Given the description of an element on the screen output the (x, y) to click on. 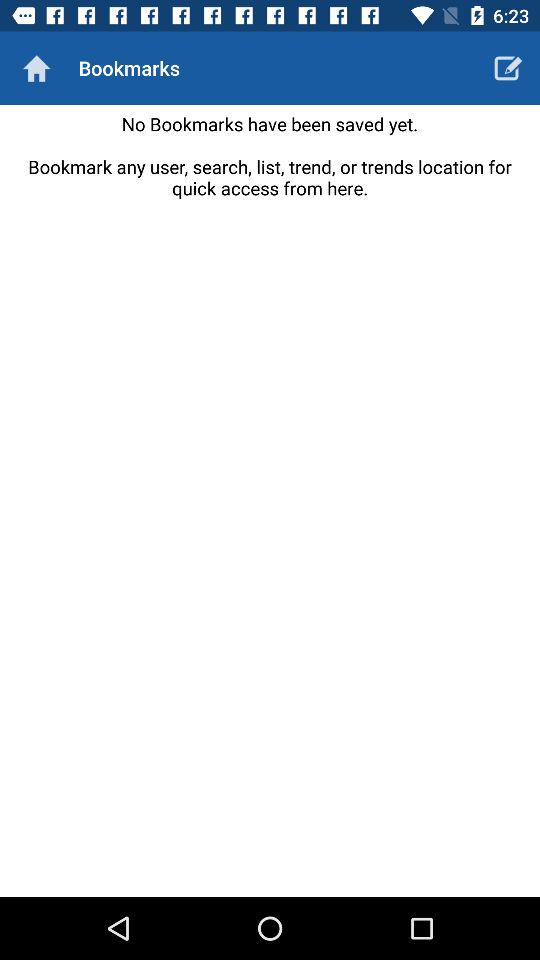
choose the icon above the no bookmarks have item (36, 68)
